Given the description of an element on the screen output the (x, y) to click on. 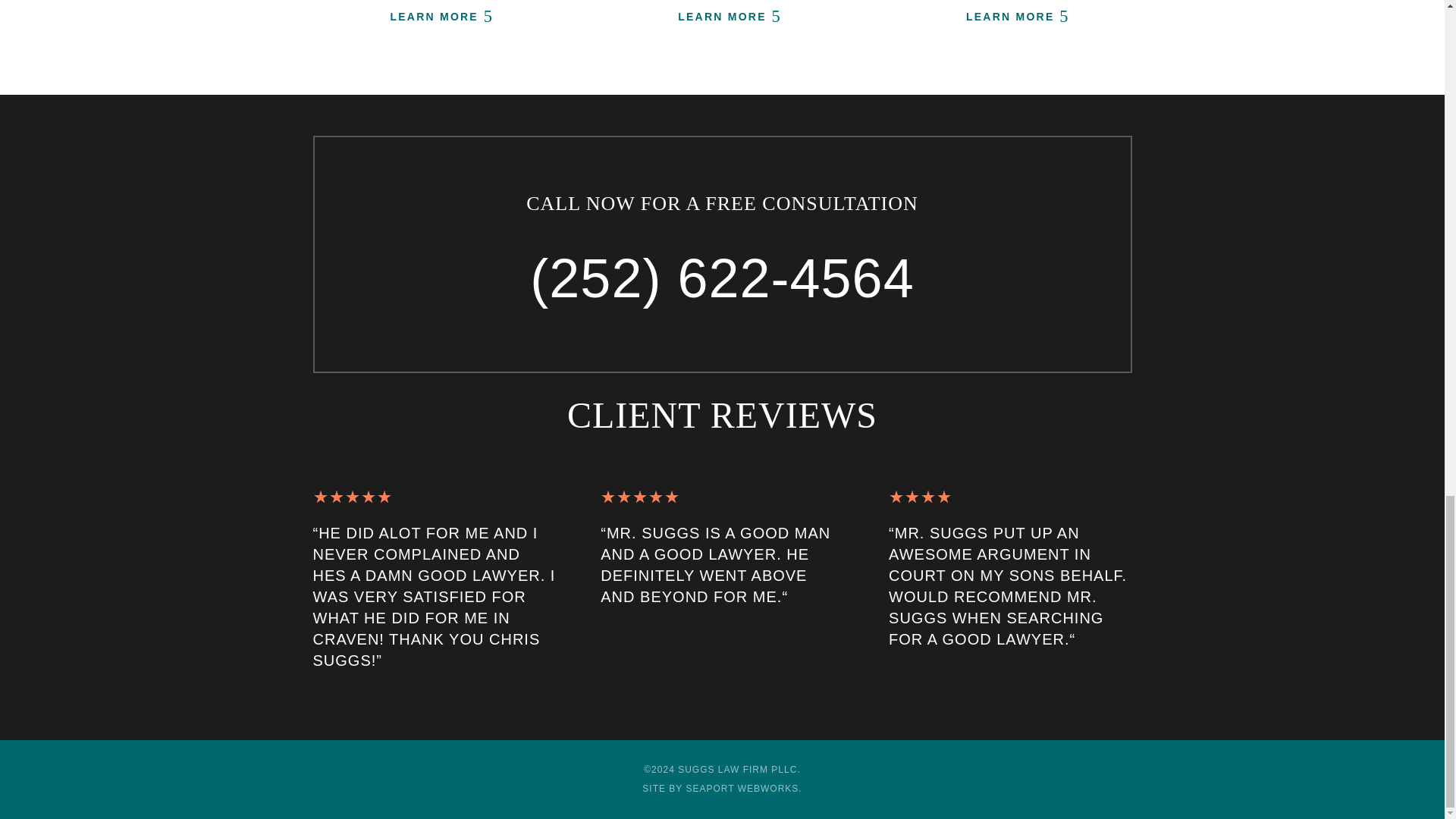
LEARN MORE (1010, 17)
LEARN MORE (721, 17)
LEARN MORE (433, 17)
SEAPORT WEBWORKS (741, 787)
